Given the description of an element on the screen output the (x, y) to click on. 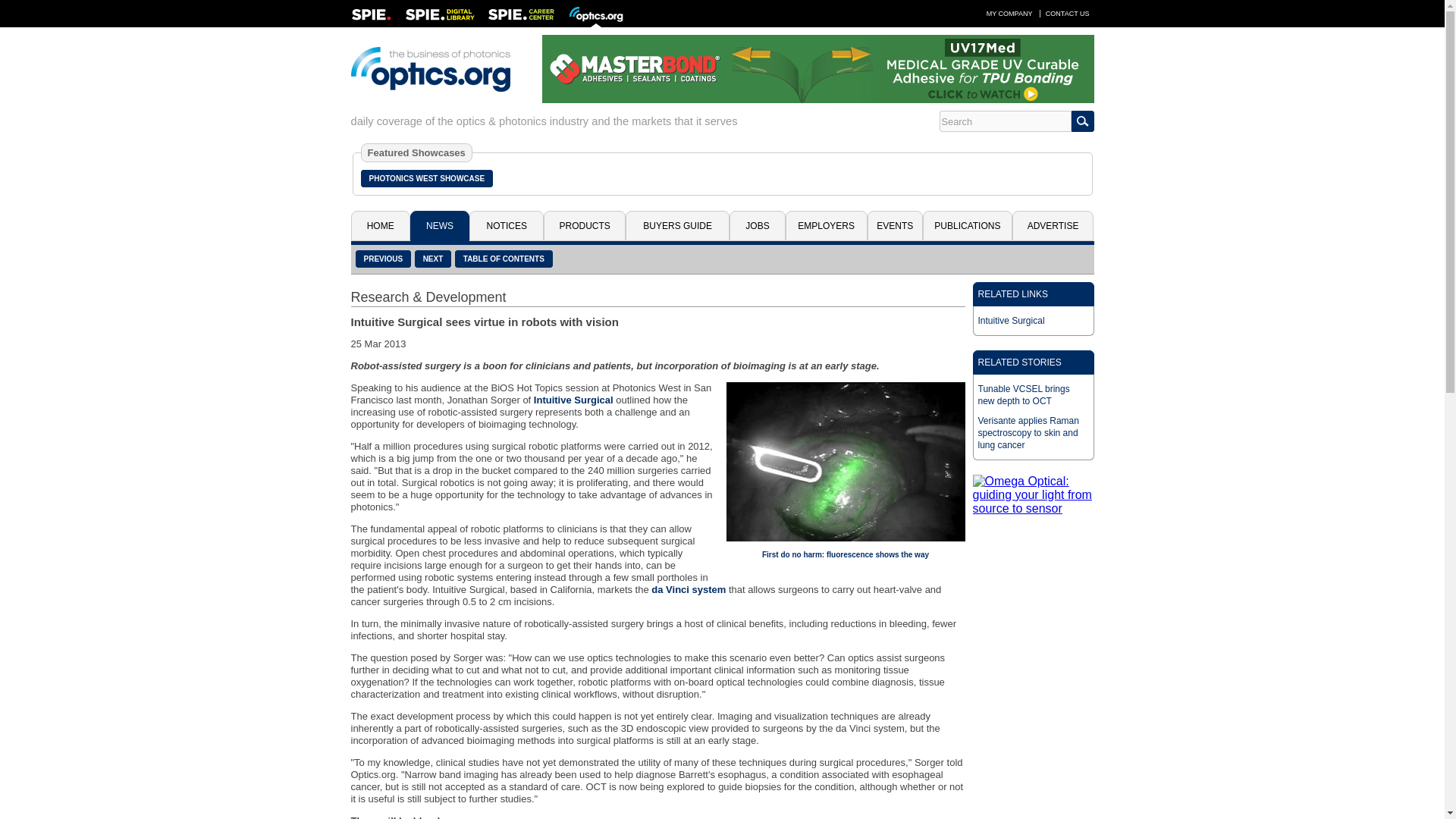
PHOTONICS WEST SHOWCASE (427, 178)
Search (1004, 120)
NOTICES (505, 225)
JOBS (757, 225)
HOME (379, 225)
BUYERS GUIDE (677, 225)
NEWS (439, 225)
First do no harm: fluorescence shows the way (844, 554)
CONTACT US (1067, 13)
MY COMPANY (1008, 13)
